Given the description of an element on the screen output the (x, y) to click on. 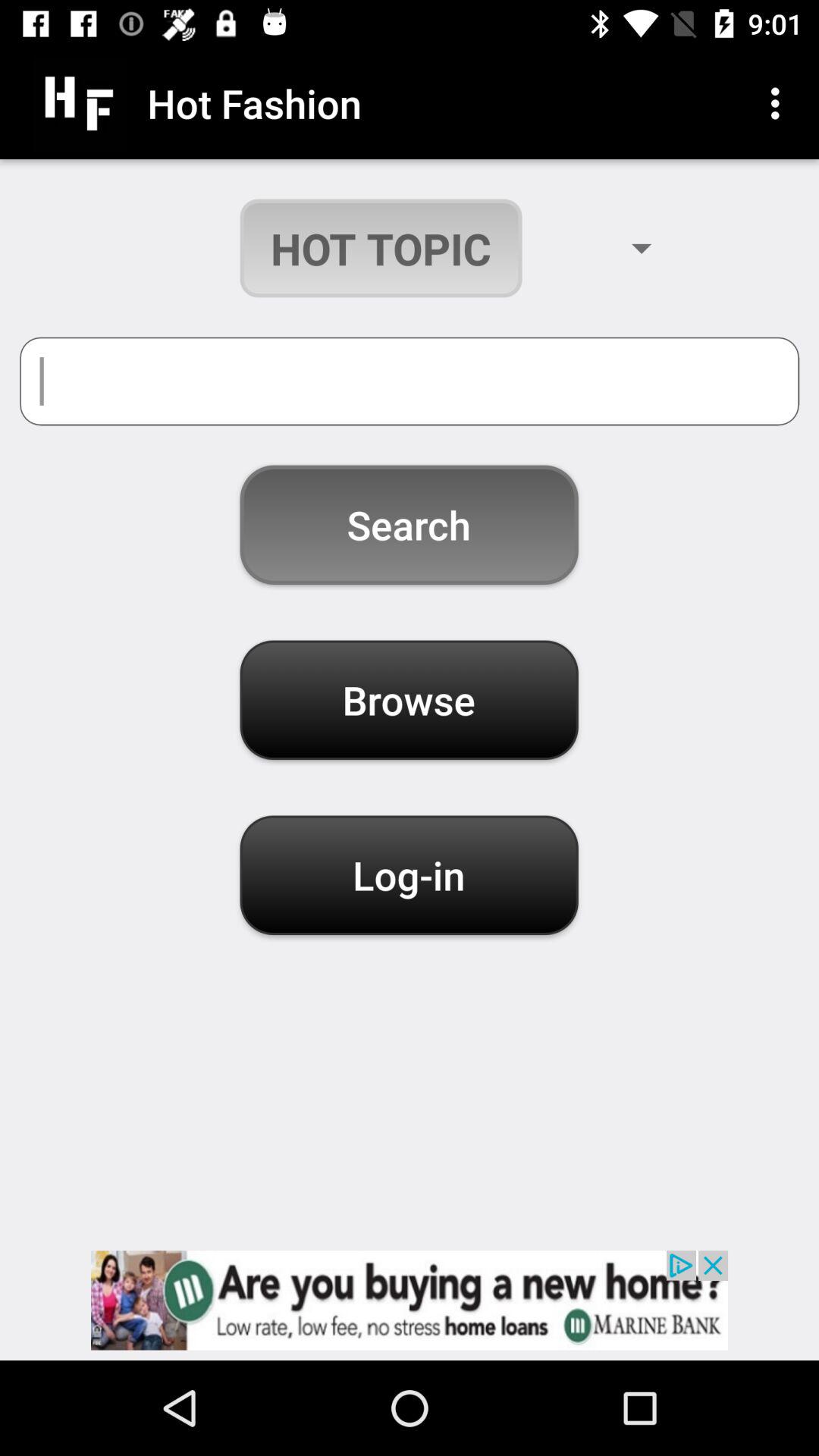
advertisement (409, 1300)
